Given the description of an element on the screen output the (x, y) to click on. 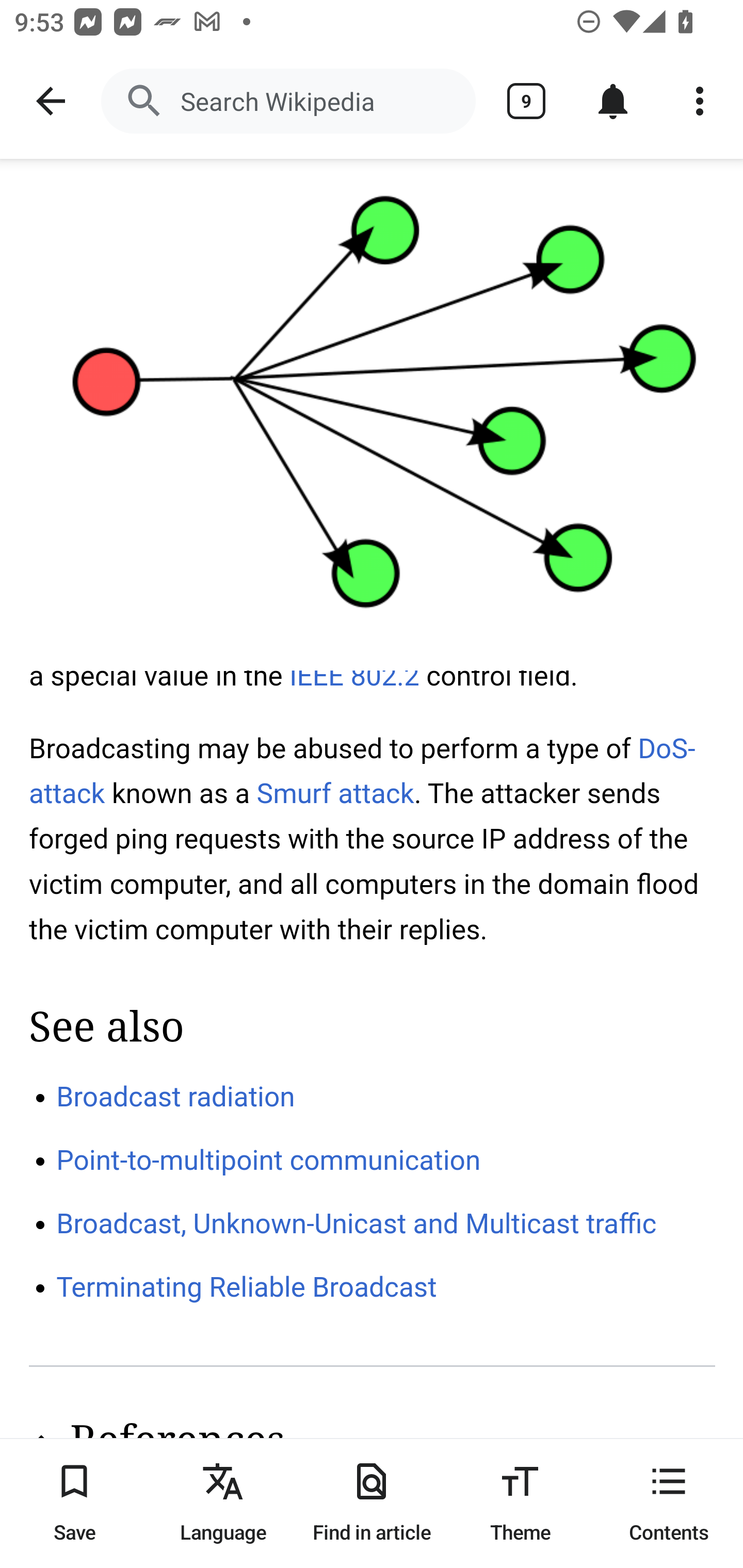
Show tabs 9 (525, 100)
Notifications (612, 100)
Navigate up (50, 101)
More options (699, 101)
Search Wikipedia (288, 100)
Image: Broadcasting (networking) (371, 414)
DoS-attack (362, 770)
Smurf attack (335, 793)
Broadcast radiation (175, 1095)
Point-to-multipoint communication (268, 1160)
Broadcast, Unknown-Unicast and Multicast traffic (356, 1222)
Terminating Reliable Broadcast (246, 1287)
Save (74, 1502)
Language (222, 1502)
Find in article (371, 1502)
Theme (519, 1502)
Contents (668, 1502)
